Given the description of an element on the screen output the (x, y) to click on. 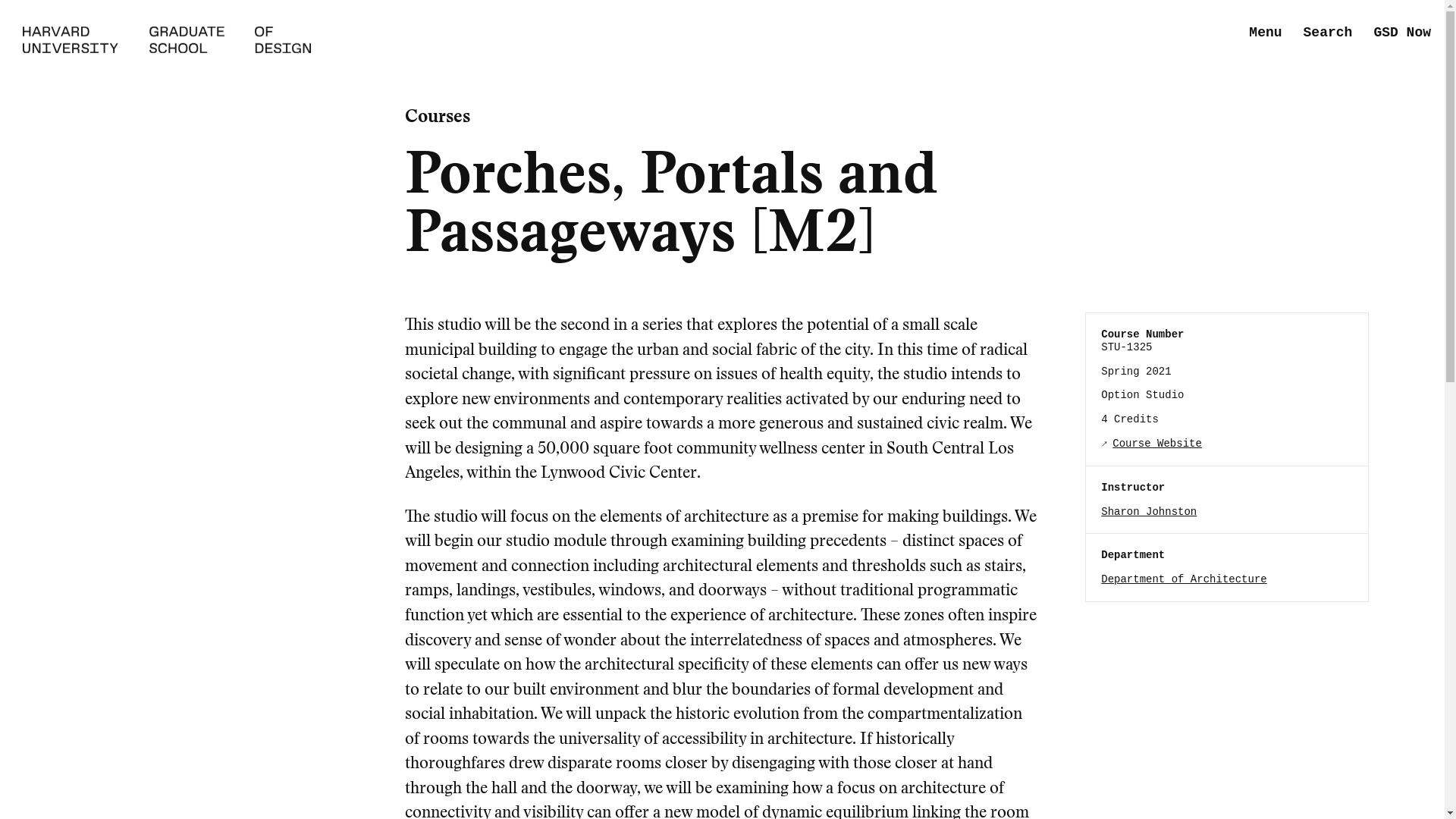
Search (1327, 32)
GSD Now (1402, 32)
Menu (1265, 32)
